Given the description of an element on the screen output the (x, y) to click on. 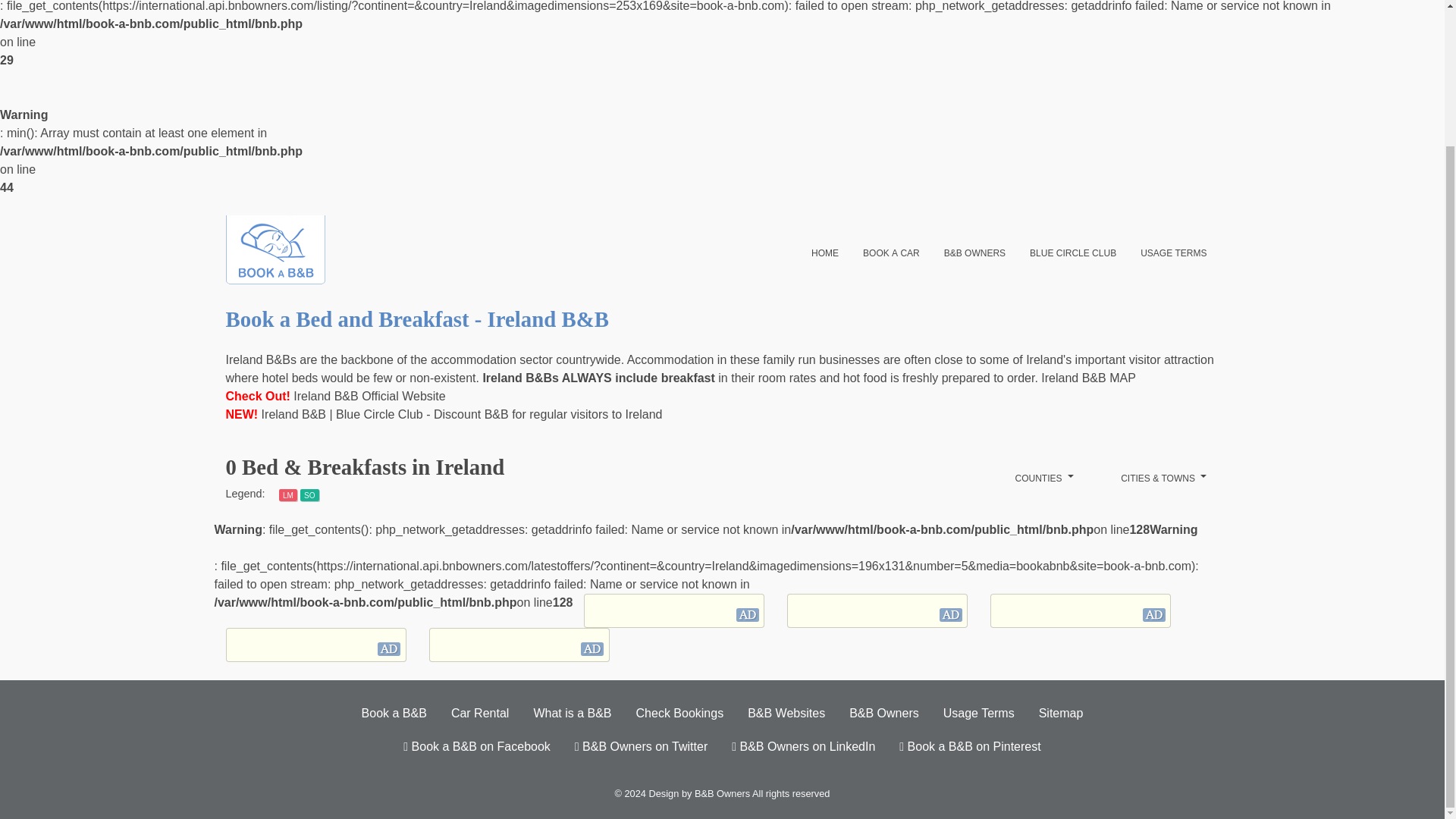
Car Rental (480, 713)
counties (1044, 477)
blue circle club (1072, 251)
book a car (890, 251)
All rights reserved (790, 793)
Sitemap (1061, 713)
Usage Terms (978, 713)
usage terms (1173, 251)
Check Bookings (680, 713)
